Given the description of an element on the screen output the (x, y) to click on. 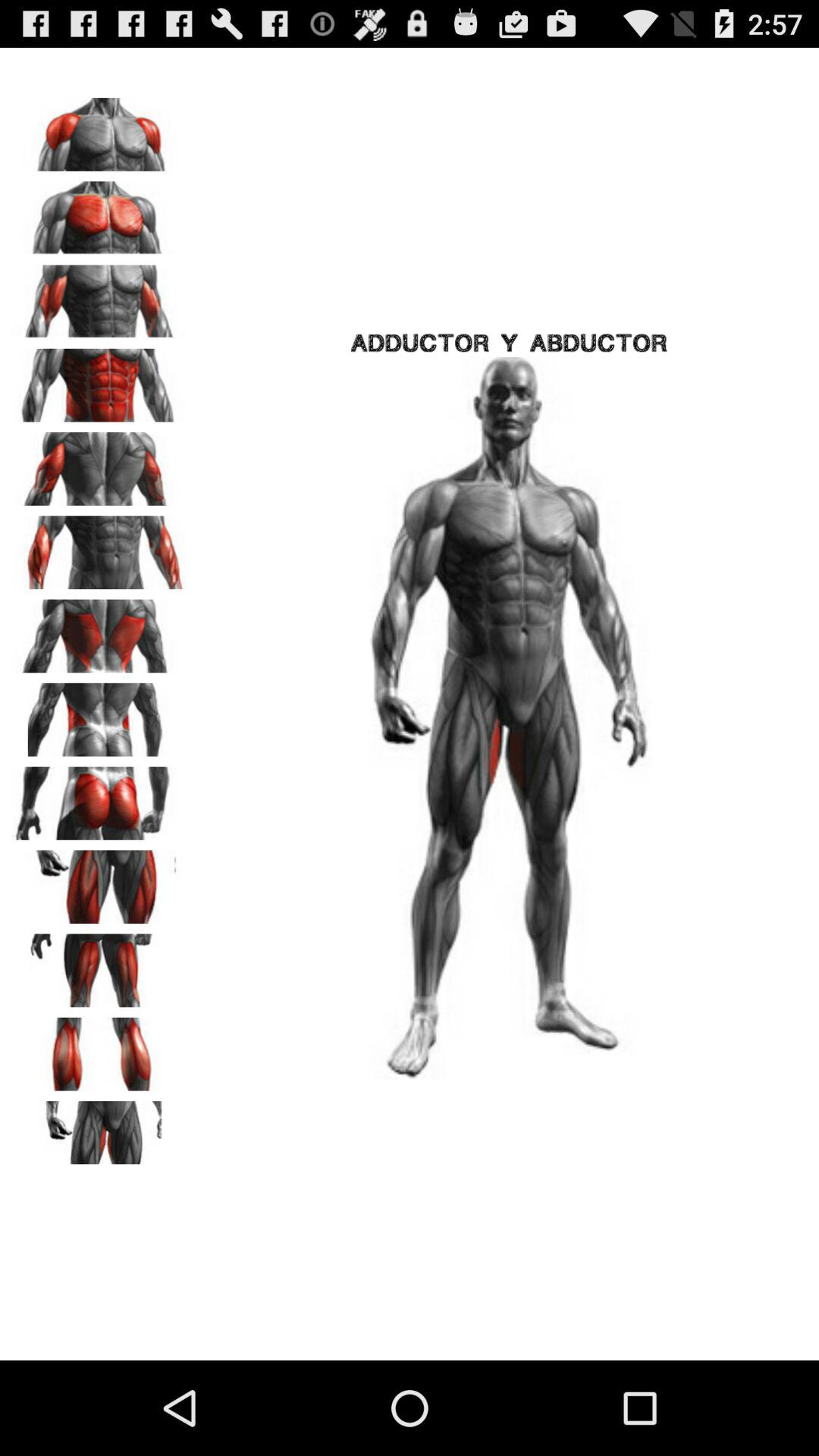
highlight selected element (99, 1048)
